Given the description of an element on the screen output the (x, y) to click on. 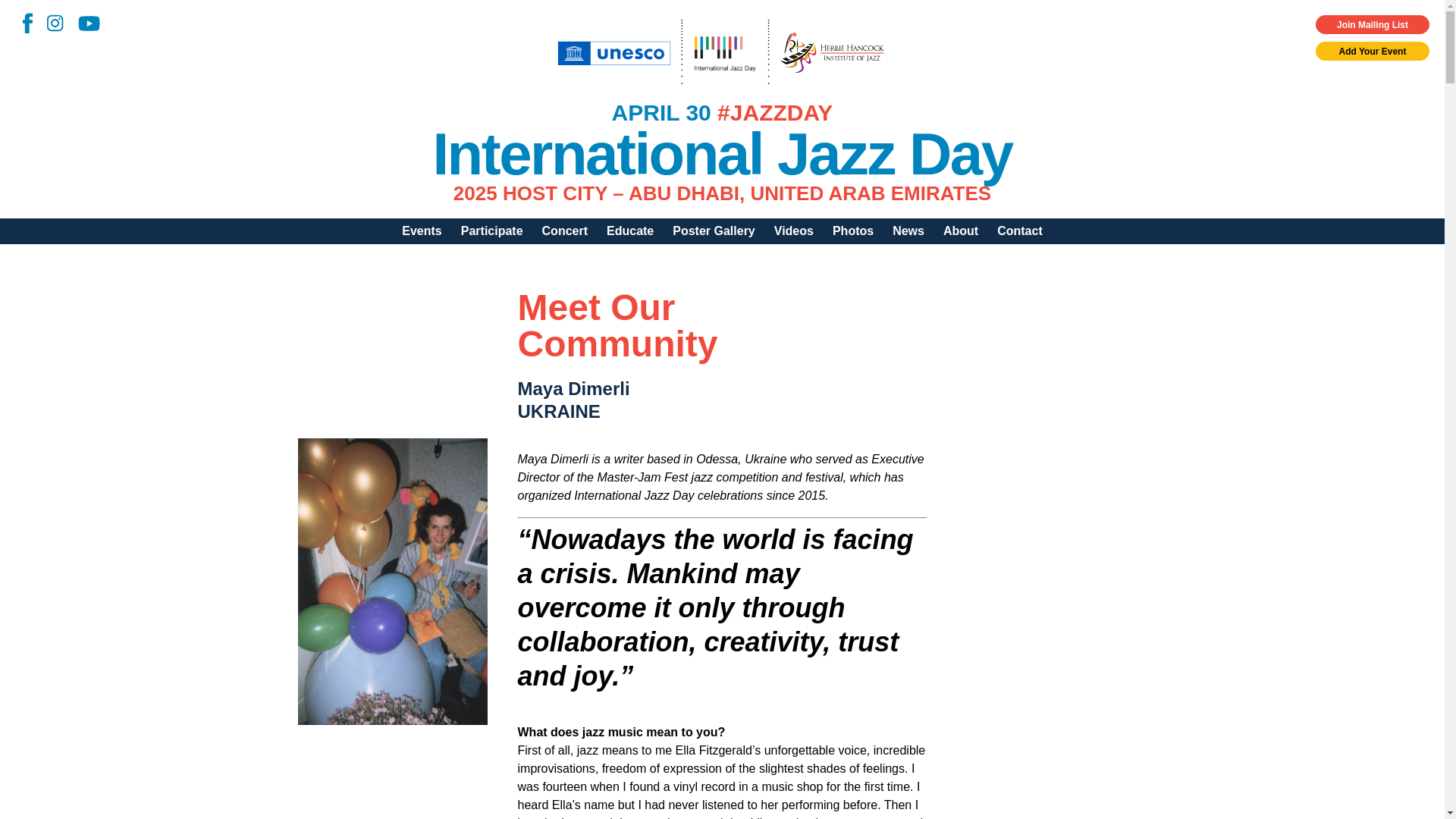
Photos (852, 231)
Instagram (49, 20)
News (908, 231)
YouTube (82, 20)
Events (422, 231)
Videos (793, 231)
Concert (564, 231)
Participate (491, 231)
International Jazz Day (721, 153)
Poster Gallery (714, 231)
